Given the description of an element on the screen output the (x, y) to click on. 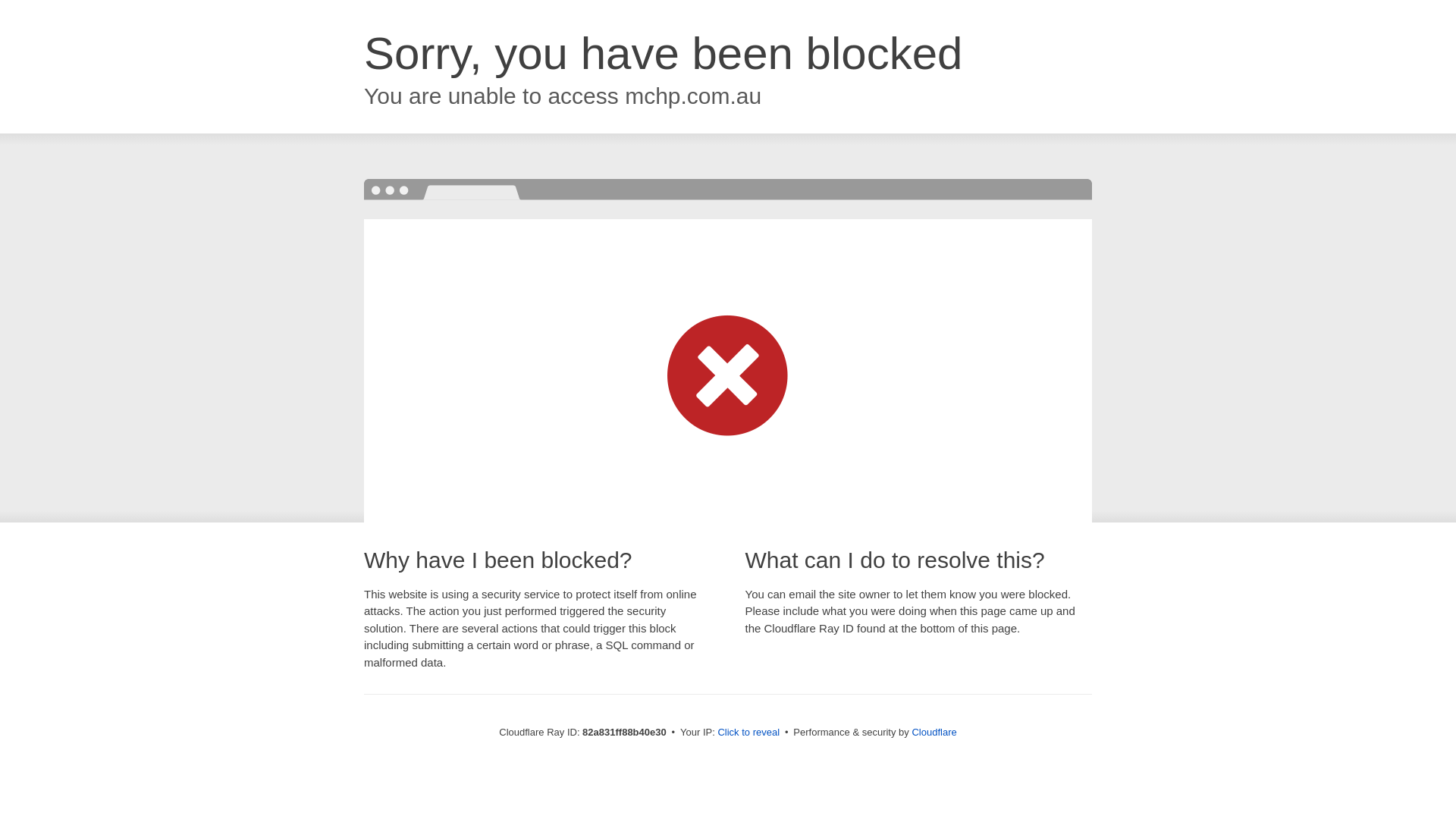
Click to reveal Element type: text (748, 732)
Cloudflare Element type: text (933, 731)
